Given the description of an element on the screen output the (x, y) to click on. 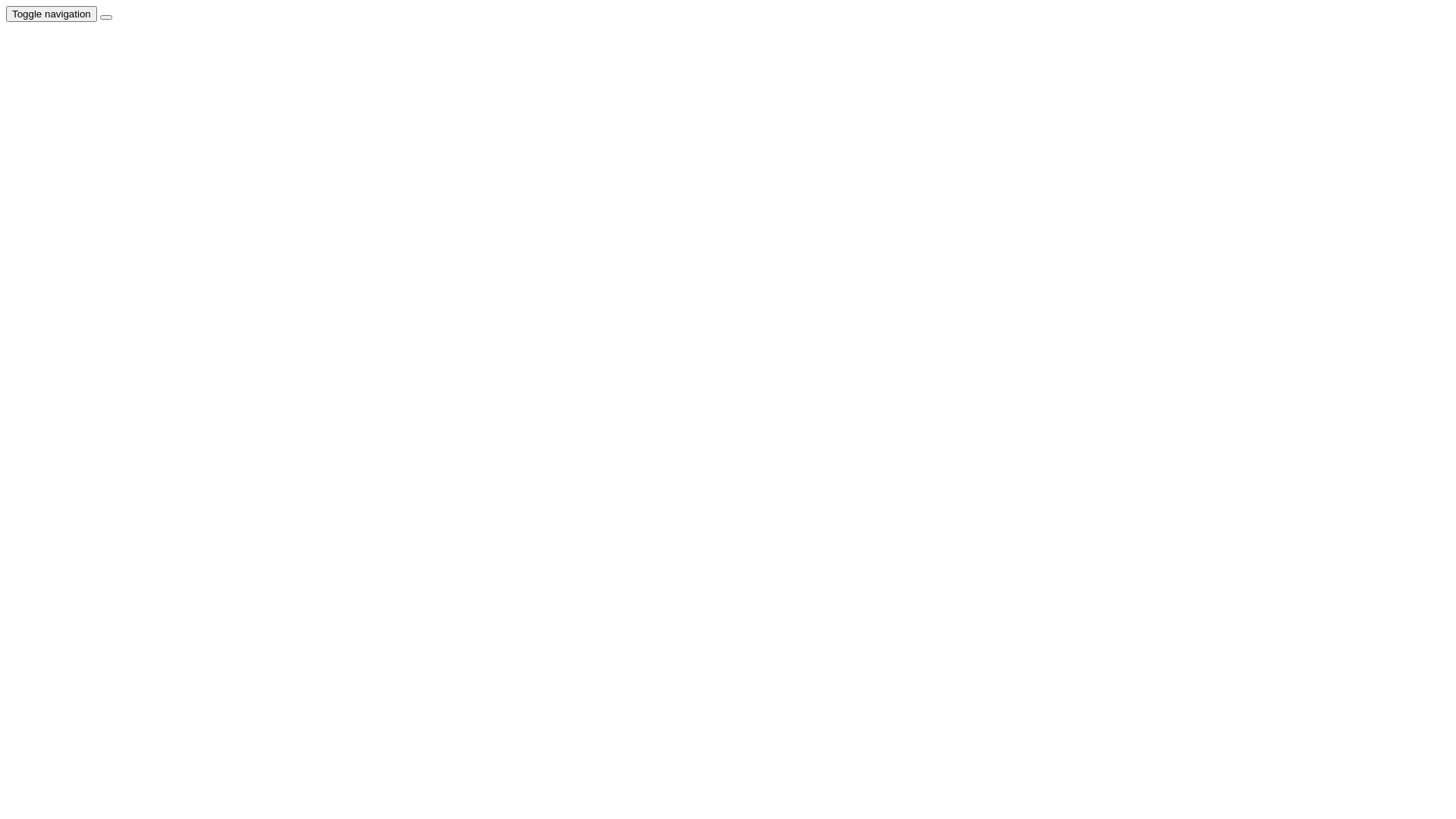
Toggle navigation Element type: text (51, 13)
